Given the description of an element on the screen output the (x, y) to click on. 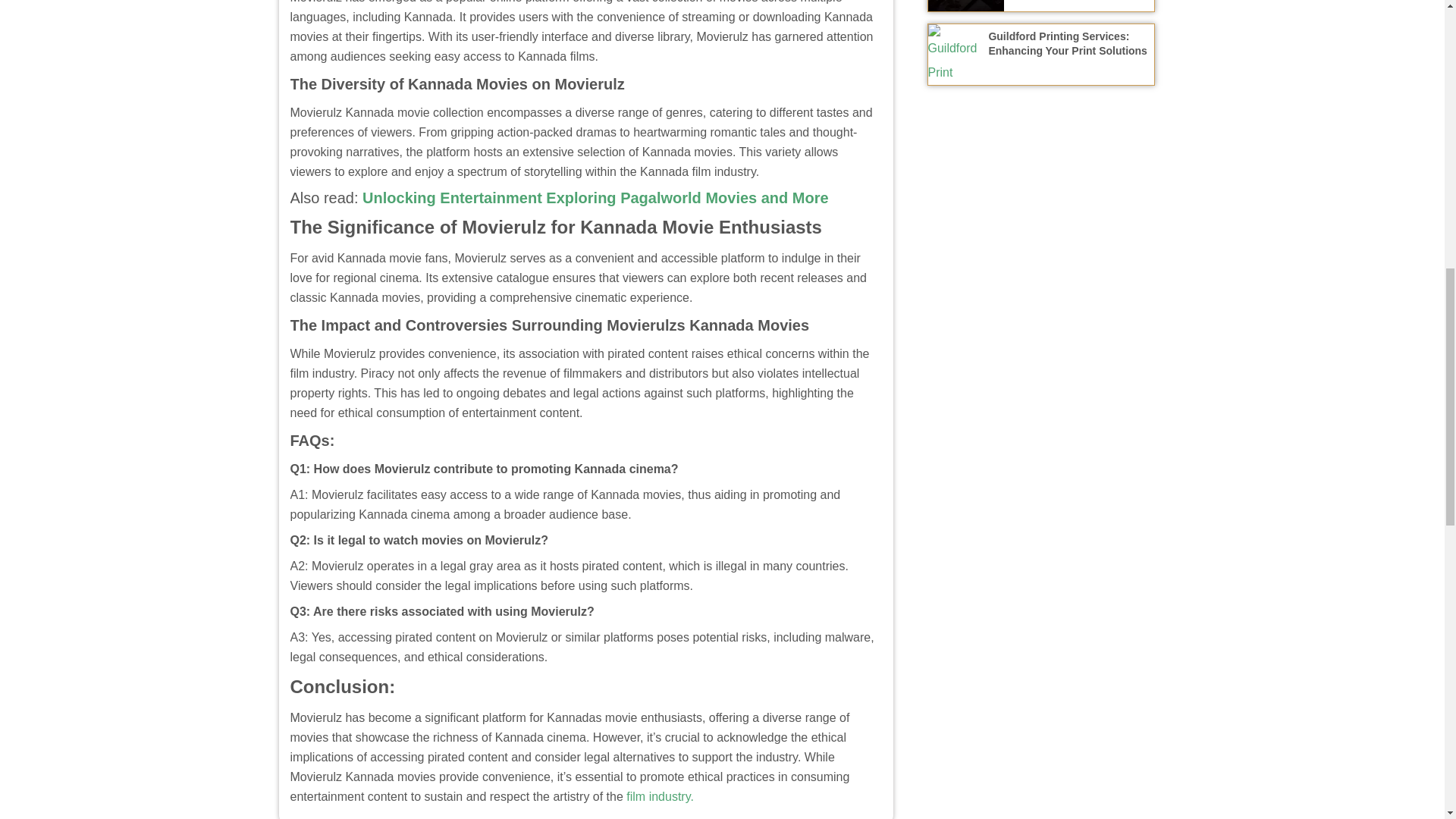
film industry. (658, 796)
Guildford Printing Services: Enhancing Your Print Solutions (1067, 43)
Unlocking Entertainment Exploring Pagalworld Movies and More (595, 197)
